Given the description of an element on the screen output the (x, y) to click on. 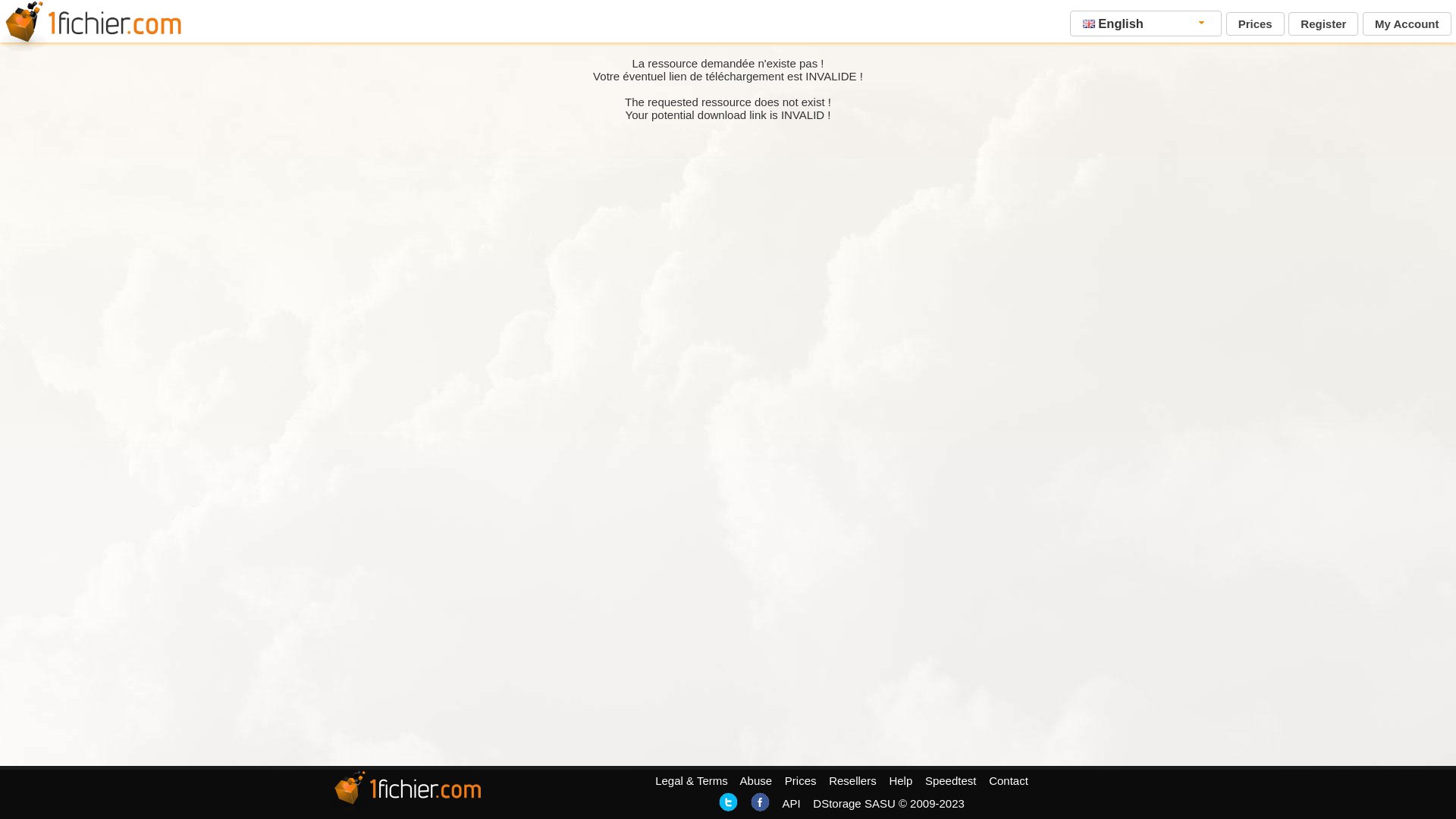
Legal & Terms Element type: text (691, 780)
Prices Element type: text (1255, 23)
Resellers Element type: text (852, 780)
Register Element type: text (1323, 23)
Help Element type: text (900, 780)
Abuse Element type: text (756, 780)
Contact Element type: text (1008, 780)
Prices Element type: text (800, 780)
My Account Element type: text (1406, 23)
API Element type: text (790, 803)
Speedtest Element type: text (950, 780)
